Given the description of an element on the screen output the (x, y) to click on. 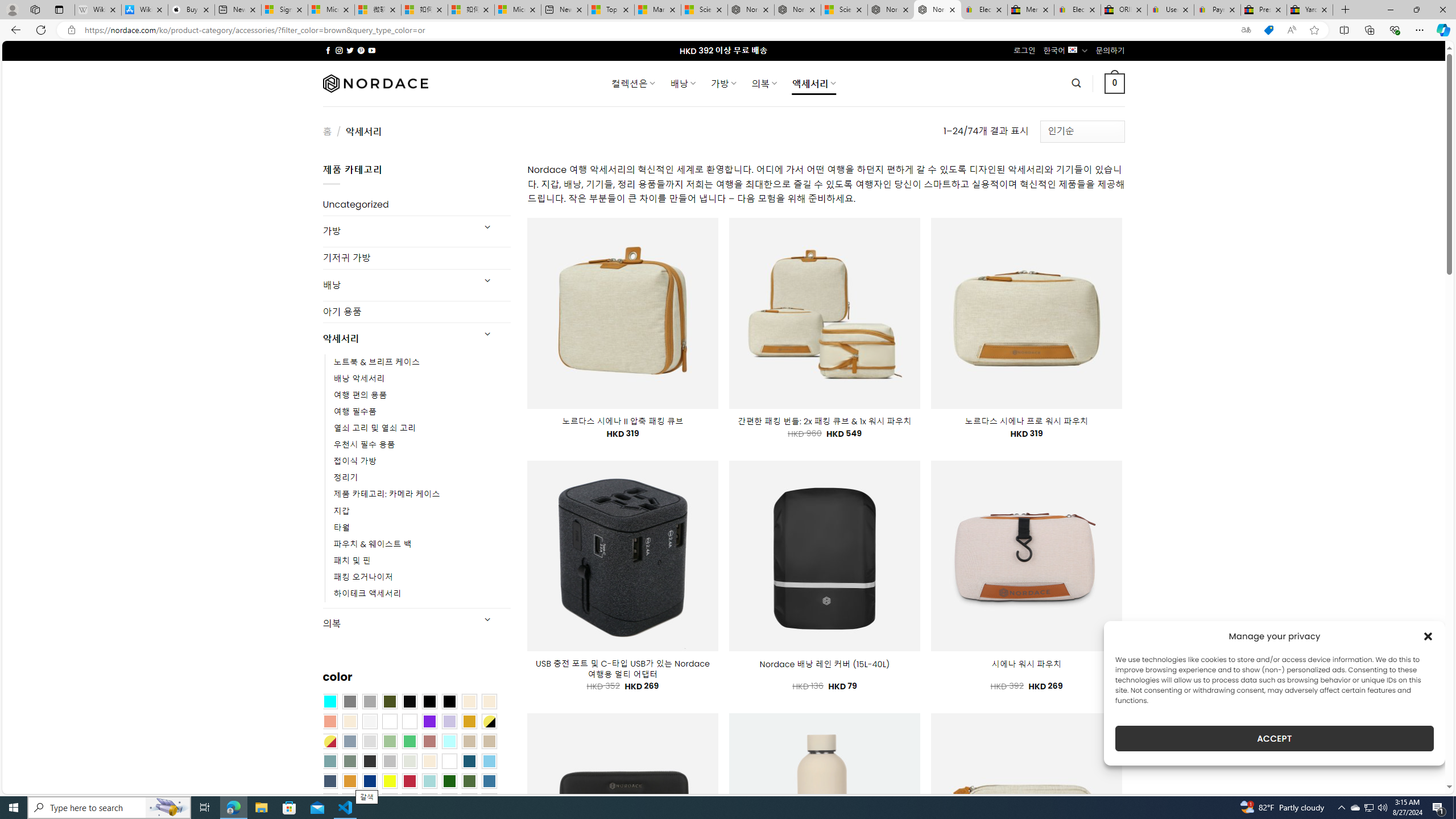
Payments Terms of Use | eBay.com (1216, 9)
